Given the description of an element on the screen output the (x, y) to click on. 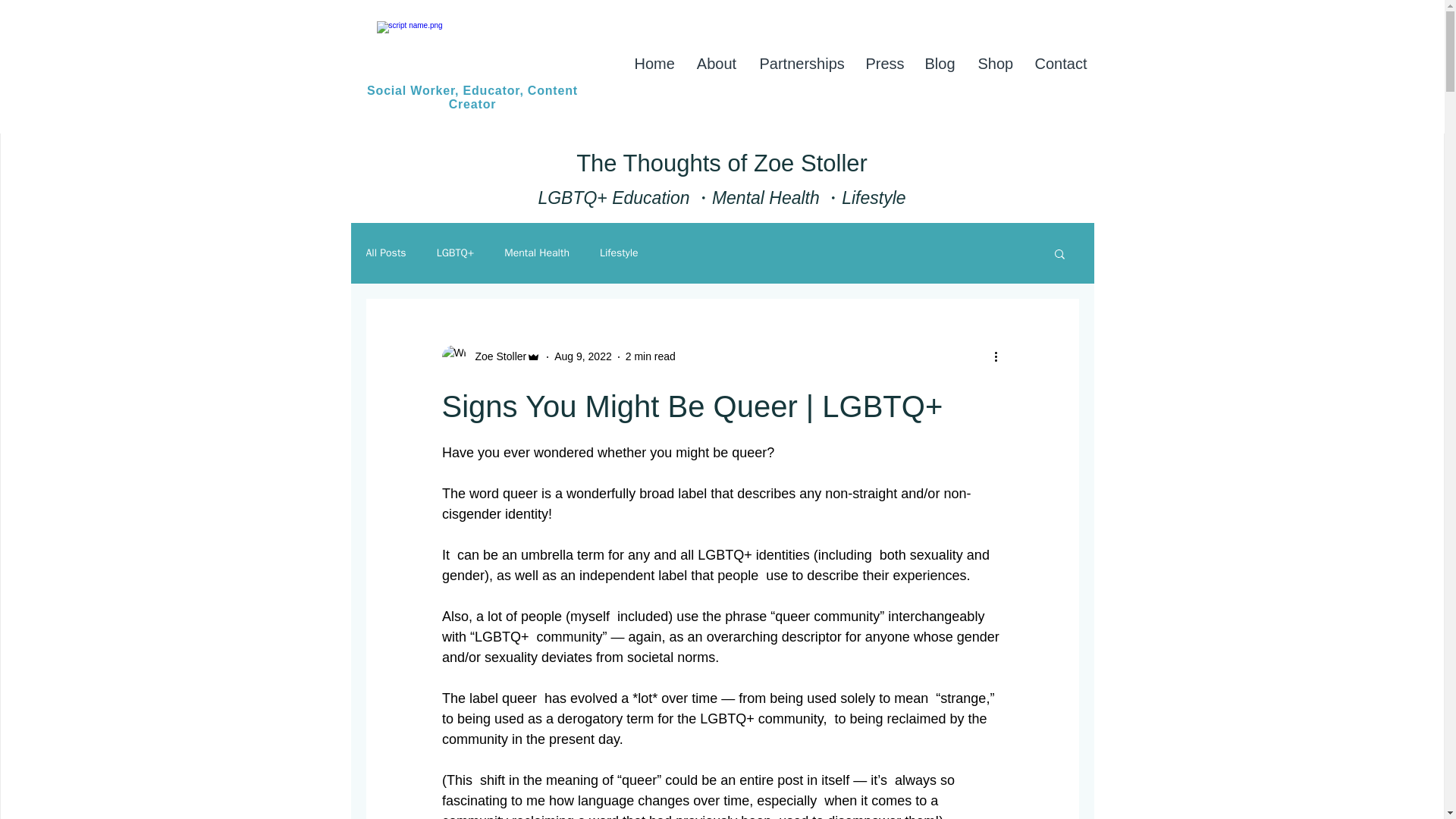
The Thoughts of Zoe Stoller (721, 162)
Mental Health (765, 198)
Press (882, 63)
Social Worker, Educator, Content Creator (472, 97)
Lifestyle (873, 198)
Lifestyle (619, 253)
Partnerships (800, 63)
All Posts (385, 253)
Aug 9, 2022 (582, 356)
Home (654, 63)
Mental Health (536, 253)
Zoe Stoller (490, 356)
About (716, 63)
Shop (994, 63)
Blog (939, 63)
